Given the description of an element on the screen output the (x, y) to click on. 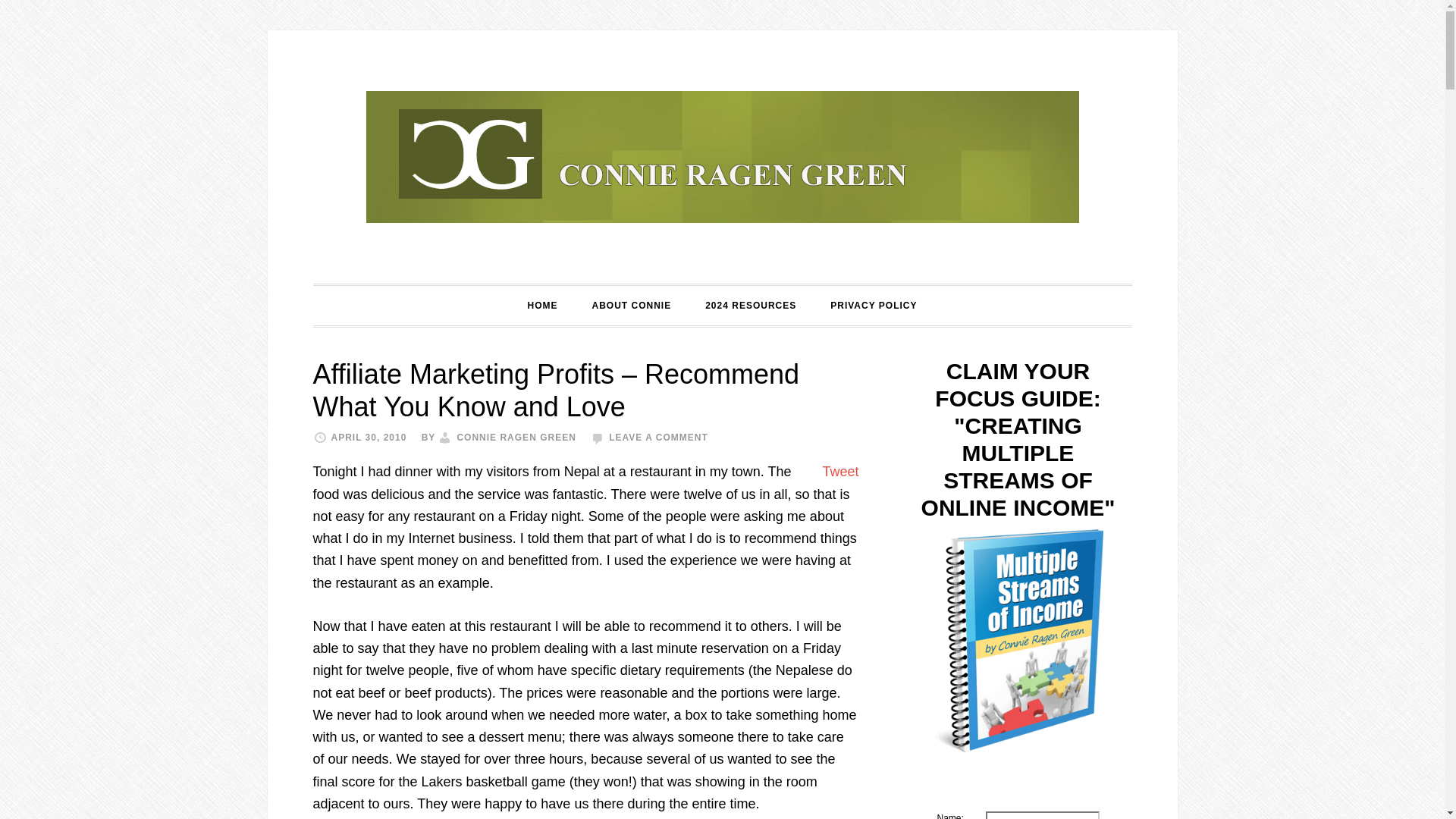
2024 RESOURCES (750, 305)
ABOUT CONNIE (630, 305)
CONNIE RAGEN GREEN (516, 437)
LEAVE A COMMENT (657, 437)
Tweet (840, 471)
PRIVACY POLICY (873, 305)
HOME (542, 305)
